Given the description of an element on the screen output the (x, y) to click on. 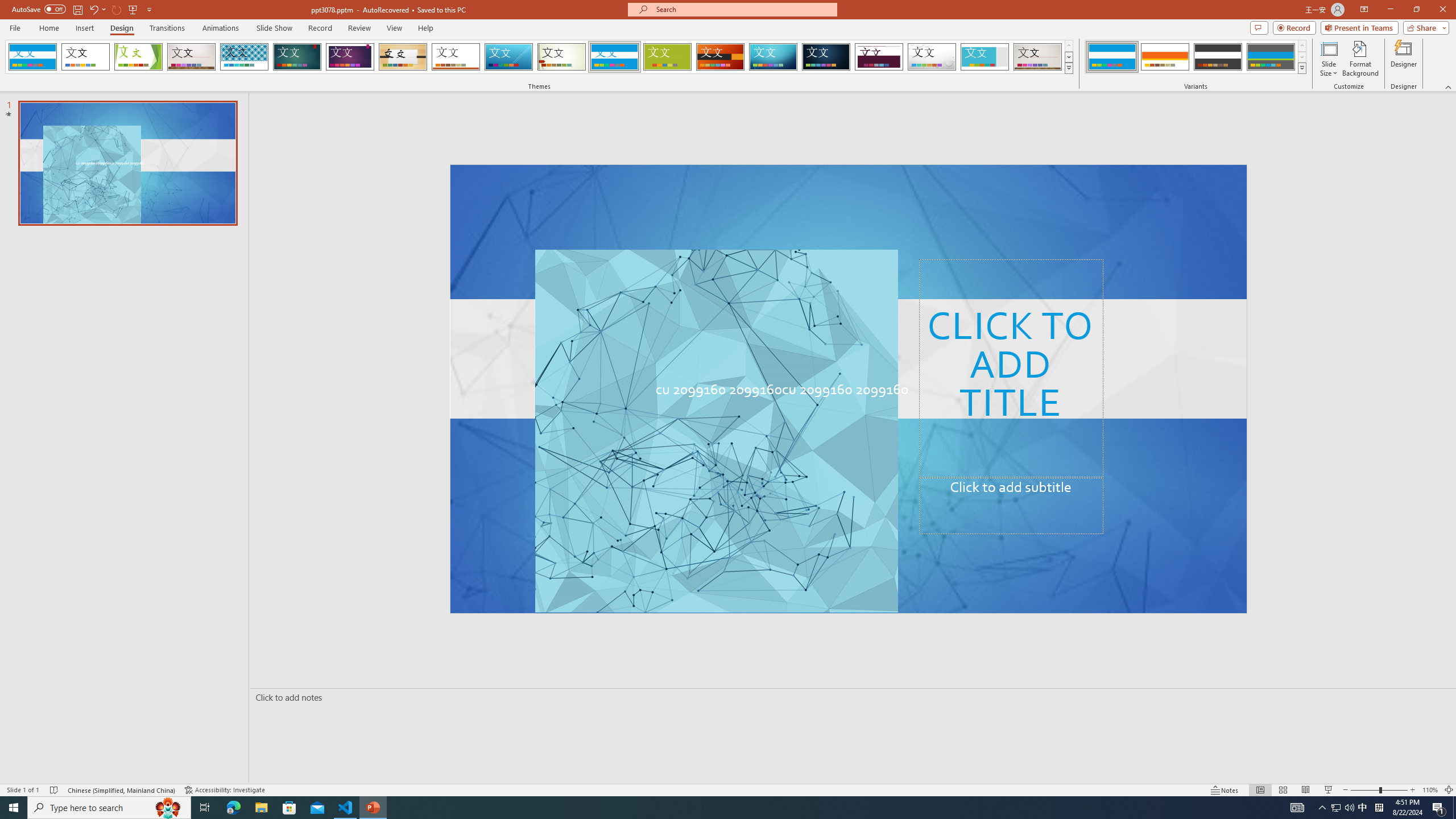
Organic (403, 56)
Retrospect (455, 56)
Frame (984, 56)
Dividend (879, 56)
Variants (1301, 67)
Banded Variant 1 (1112, 56)
Banded (614, 56)
